Given the description of an element on the screen output the (x, y) to click on. 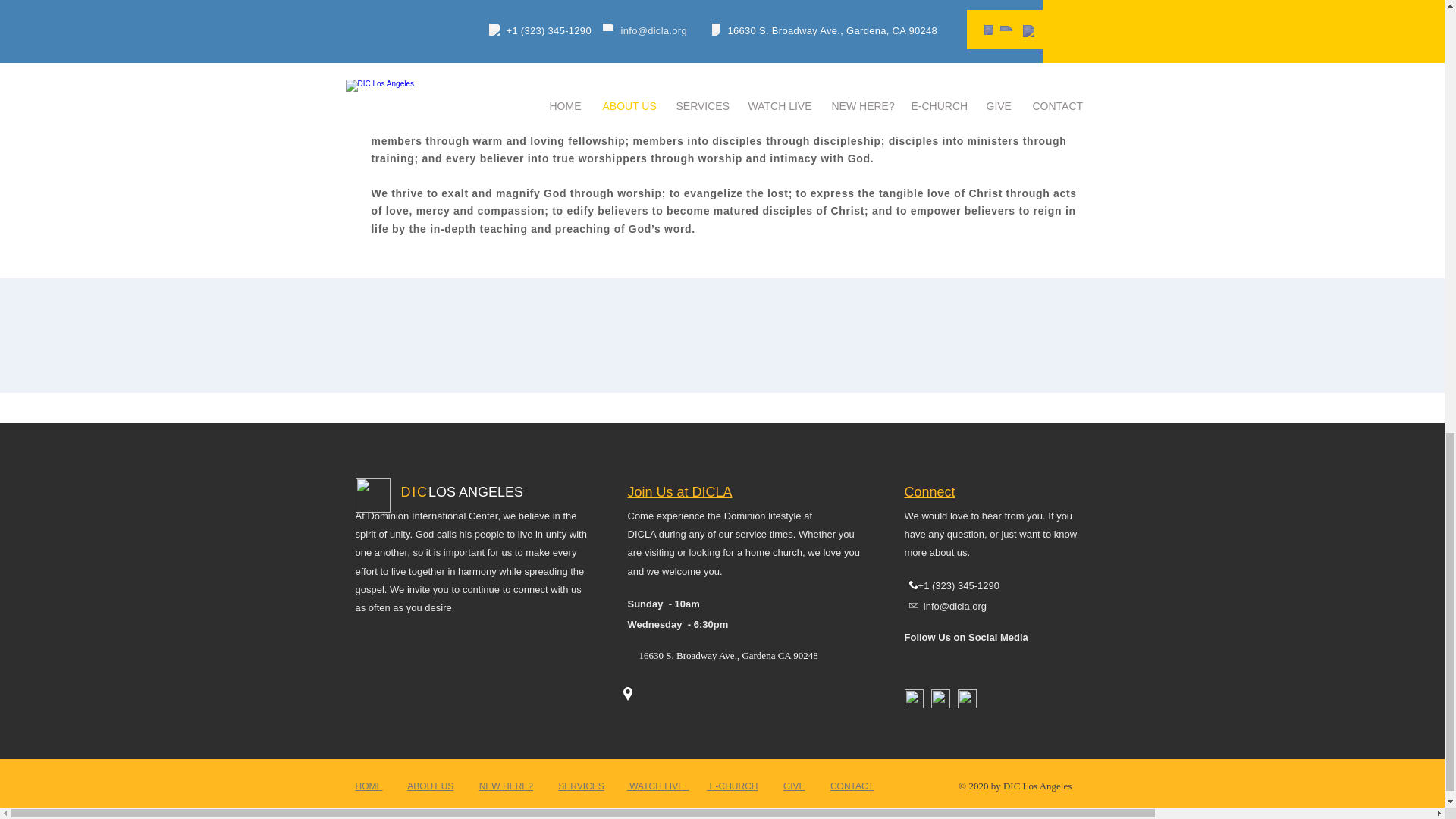
WATCH LIVE  (657, 786)
SERVICES (580, 786)
NEW HERE? (505, 786)
HOME (368, 786)
E-CHURCH (731, 786)
CONTACT (851, 786)
ABOUT US (429, 786)
GIVE (794, 786)
